Given the description of an element on the screen output the (x, y) to click on. 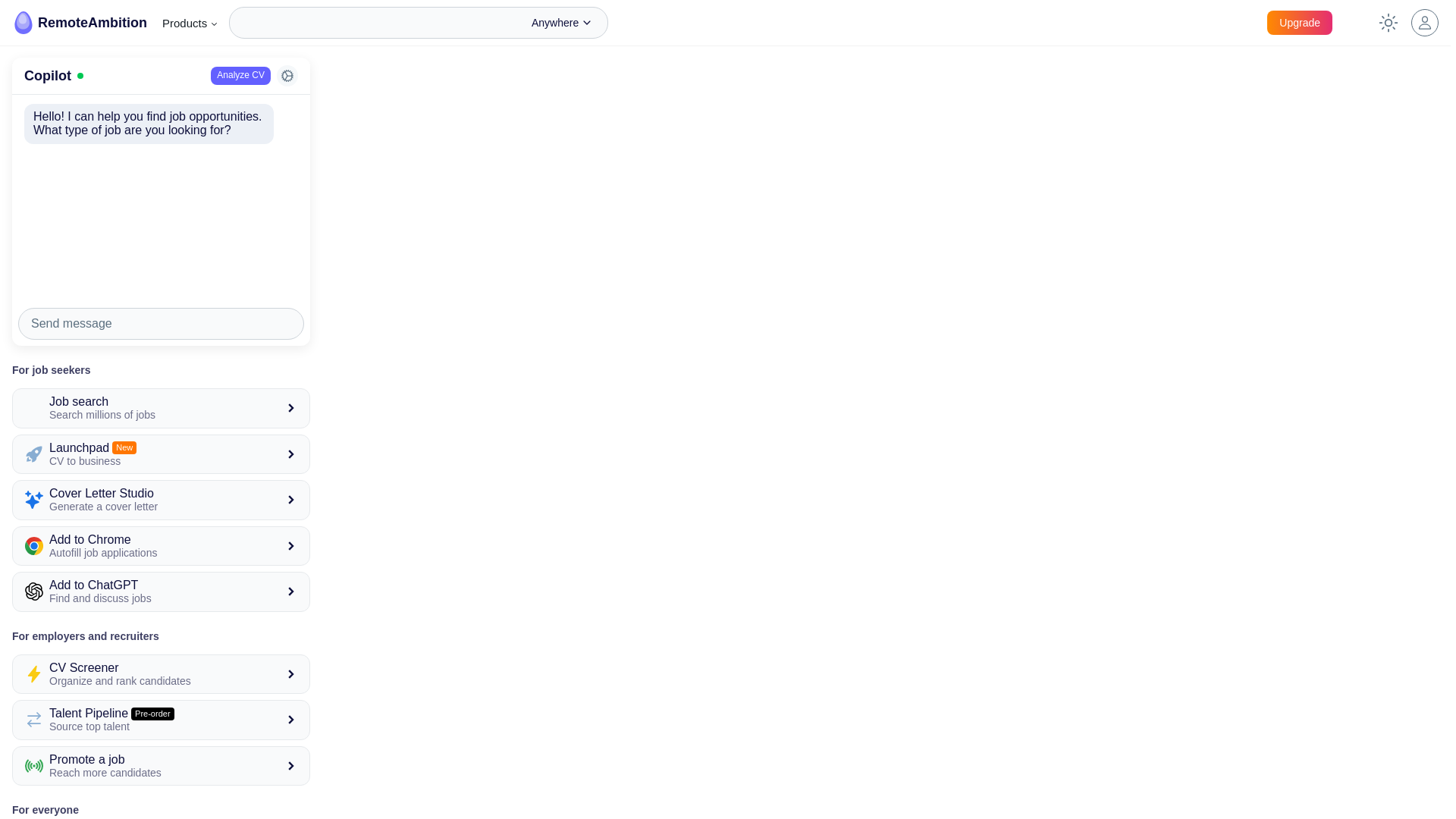
Upgrade (1299, 22)
Products (190, 22)
RemoteAmbition (160, 407)
